Given the description of an element on the screen output the (x, y) to click on. 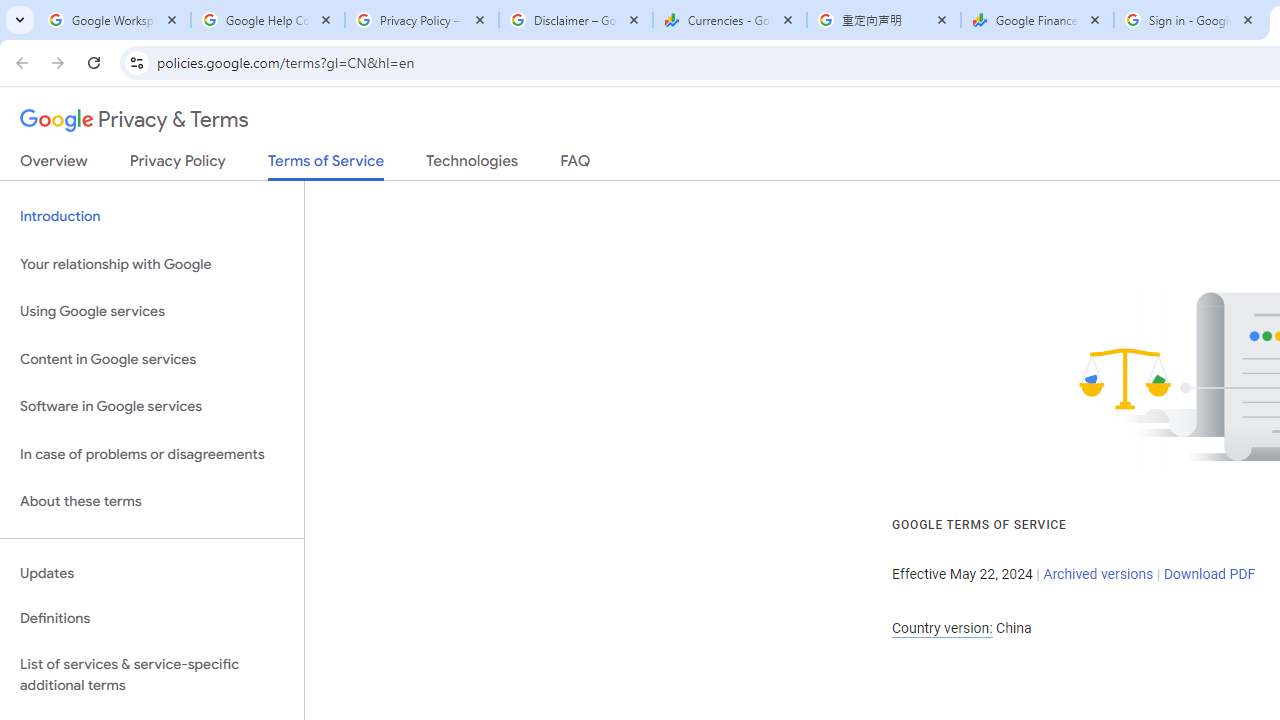
Country version: (942, 628)
Updates (152, 573)
Download PDF (1209, 574)
About these terms (152, 502)
Technologies (472, 165)
Privacy & Terms (134, 120)
Software in Google services (152, 407)
Privacy Policy (177, 165)
Terms of Service (326, 166)
